Given the description of an element on the screen output the (x, y) to click on. 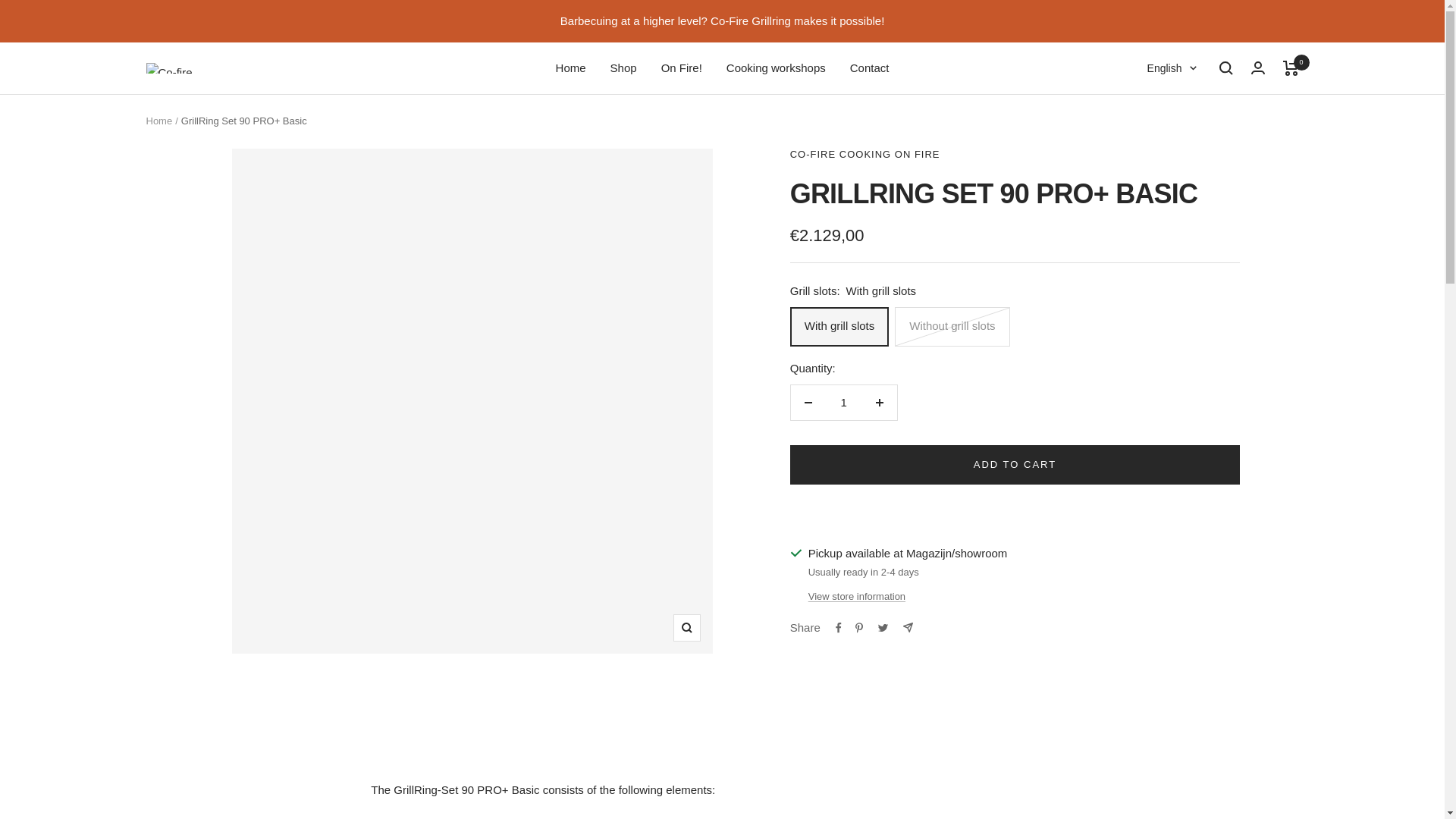
Home (571, 67)
Shop (623, 67)
Home (158, 120)
English (1171, 67)
Zoom (686, 627)
Contact (869, 67)
nl (1155, 120)
1 (843, 402)
Cooking workshops (775, 67)
On Fire! (681, 67)
